Given the description of an element on the screen output the (x, y) to click on. 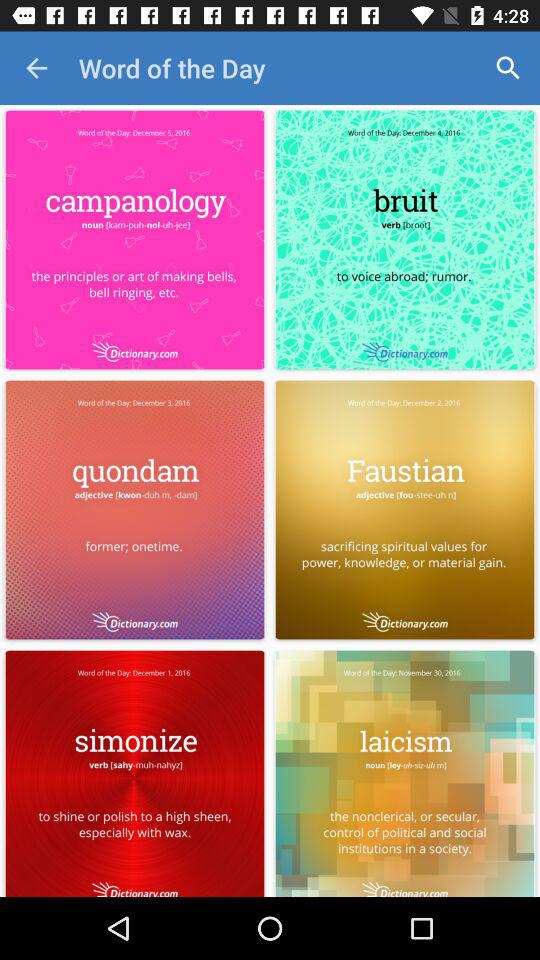
turn on icon next to the word of the (36, 68)
